Given the description of an element on the screen output the (x, y) to click on. 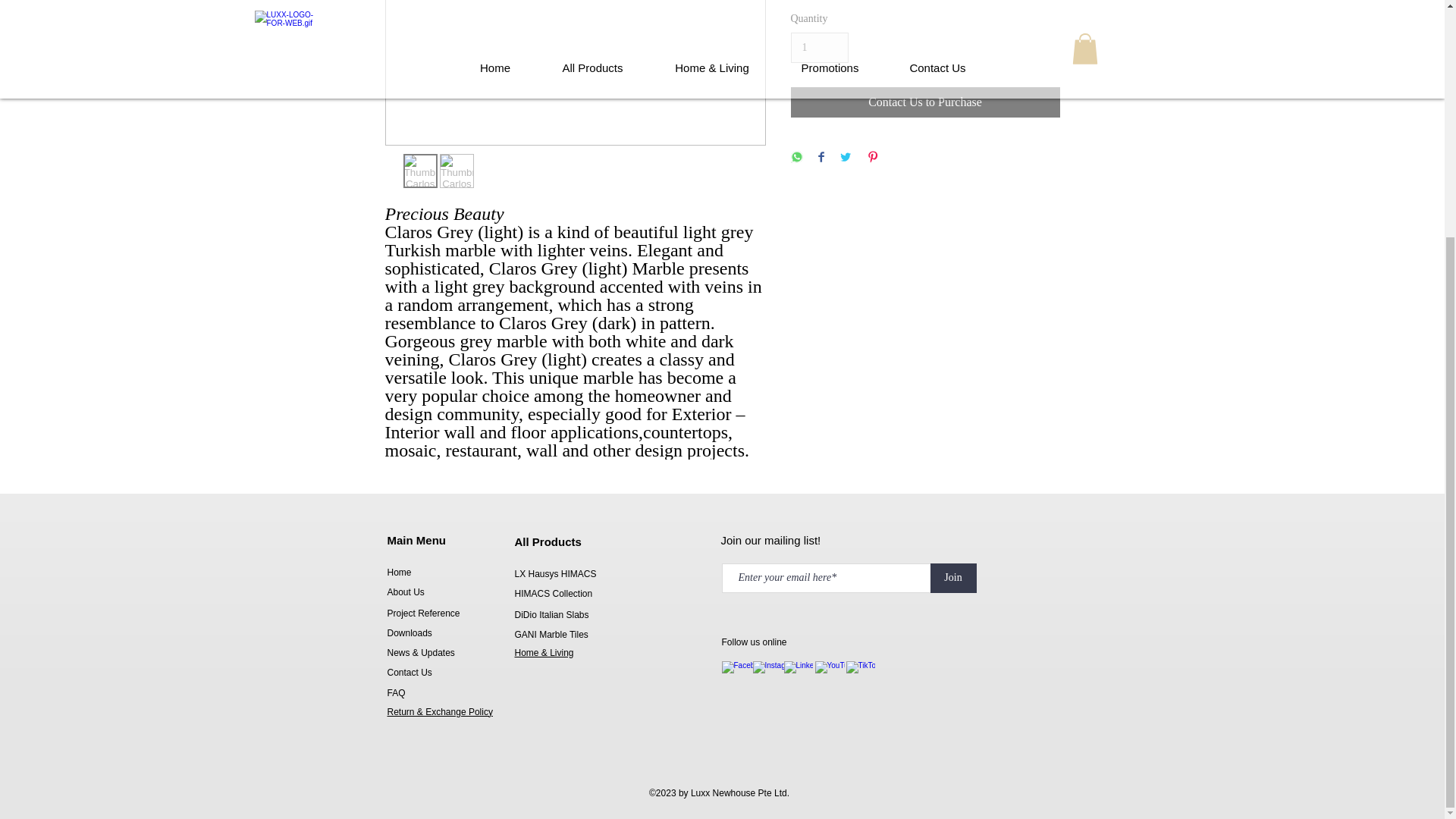
1 (818, 47)
